Given the description of an element on the screen output the (x, y) to click on. 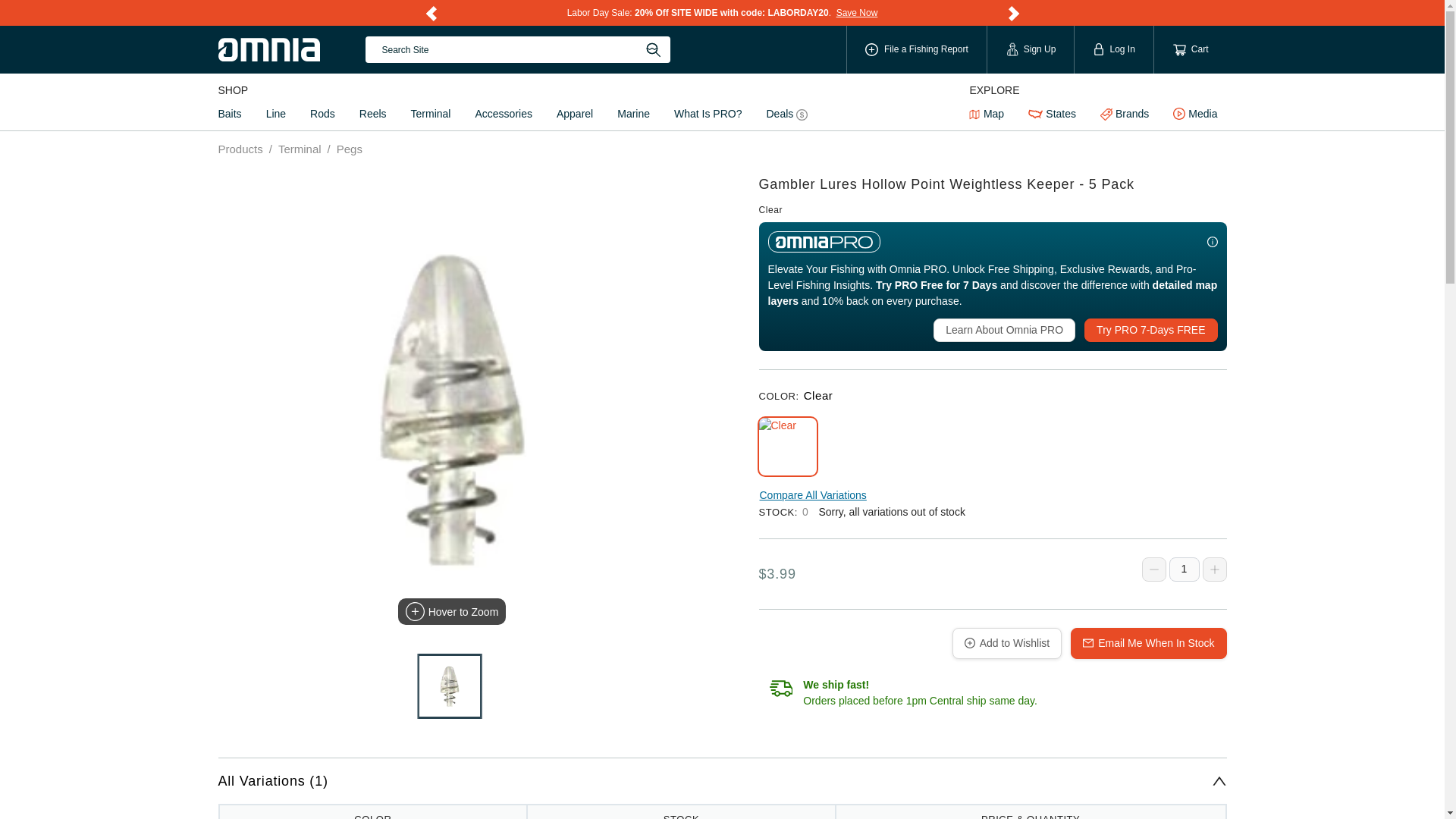
Terminal (430, 113)
Media (1194, 114)
Products (240, 148)
Clear (786, 446)
Map (986, 113)
Learn About Omnia PRO (1004, 330)
What Is PRO? (708, 113)
Log In (1113, 49)
Marine (633, 113)
Try PRO 7-Days FREE (1150, 330)
